Given the description of an element on the screen output the (x, y) to click on. 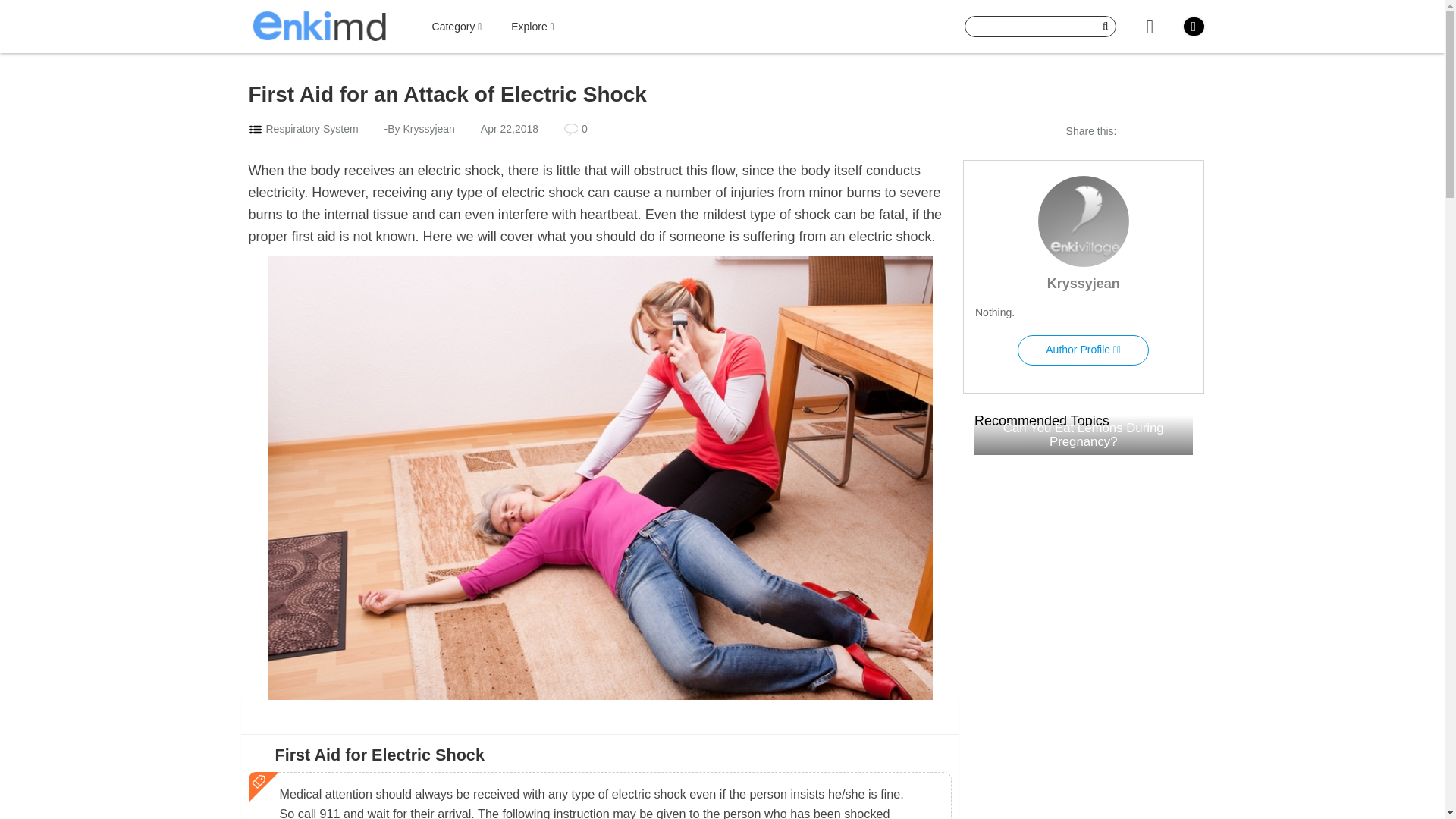
Respiratory System (311, 128)
Explore (532, 26)
Category (457, 26)
